Given the description of an element on the screen output the (x, y) to click on. 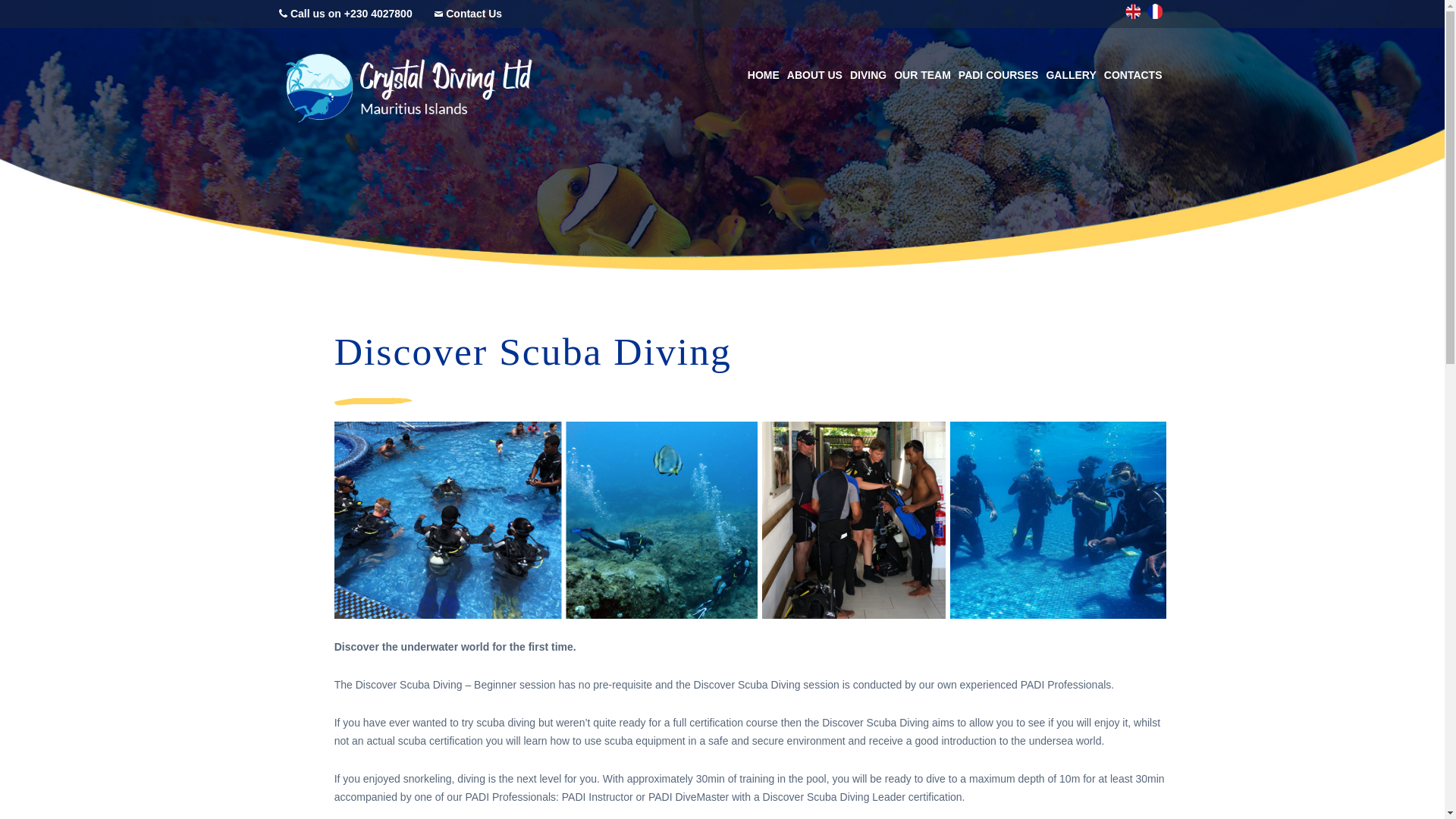
OUR TEAM (922, 75)
PADI COURSES (998, 75)
DIVING (867, 75)
HOME (763, 75)
GALLERY (1070, 75)
CONTACTS (1133, 75)
Contact Us (473, 13)
ABOUT US (814, 75)
